Given the description of an element on the screen output the (x, y) to click on. 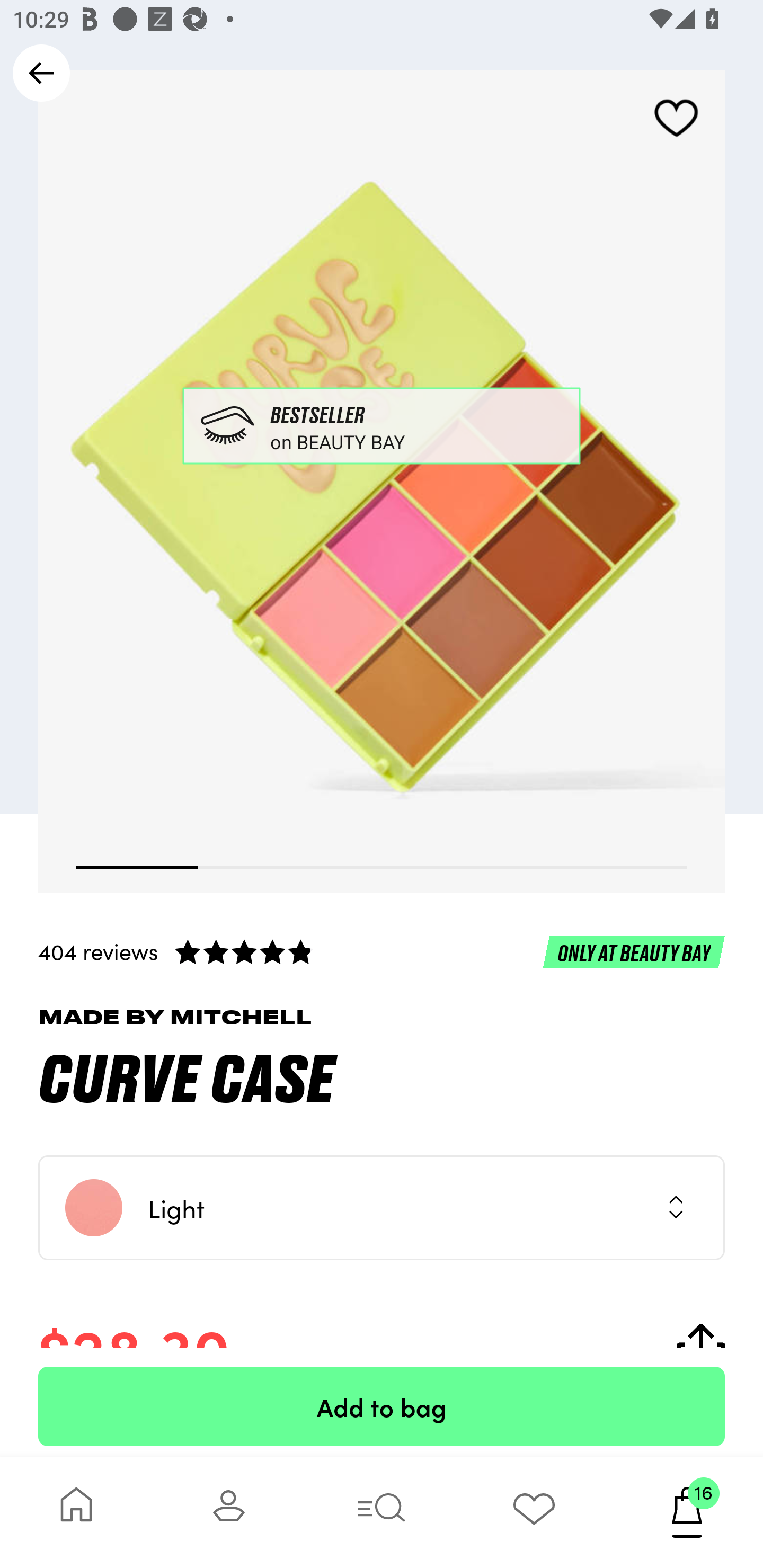
404 reviews (381, 950)
Light  (381, 1207)
Add to bag (381, 1406)
16 (686, 1512)
